Given the description of an element on the screen output the (x, y) to click on. 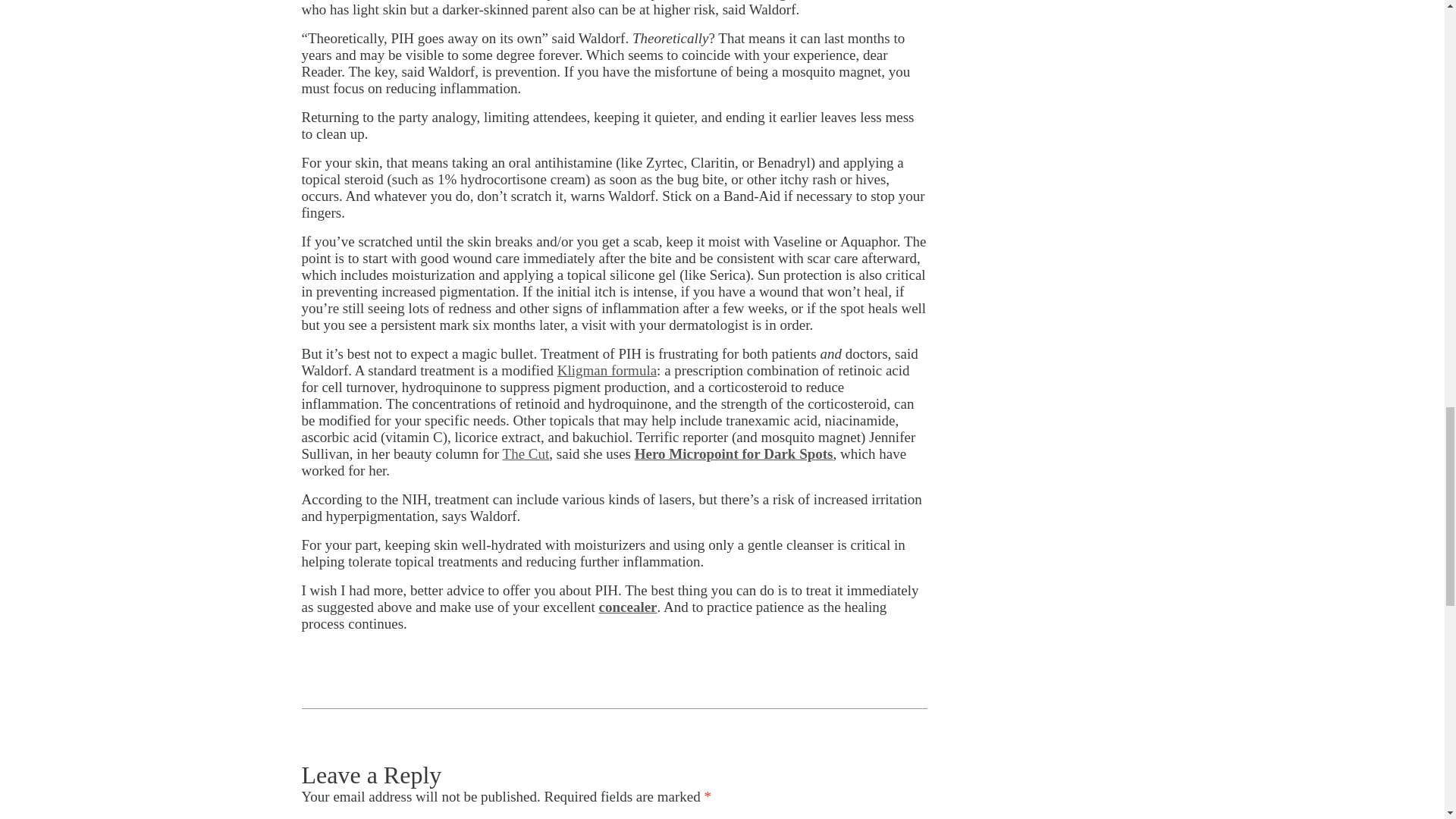
The Cut (526, 453)
Kligman formula (606, 370)
concealer (628, 606)
Hero Micropoint for Dark Spots (733, 453)
